Given the description of an element on the screen output the (x, y) to click on. 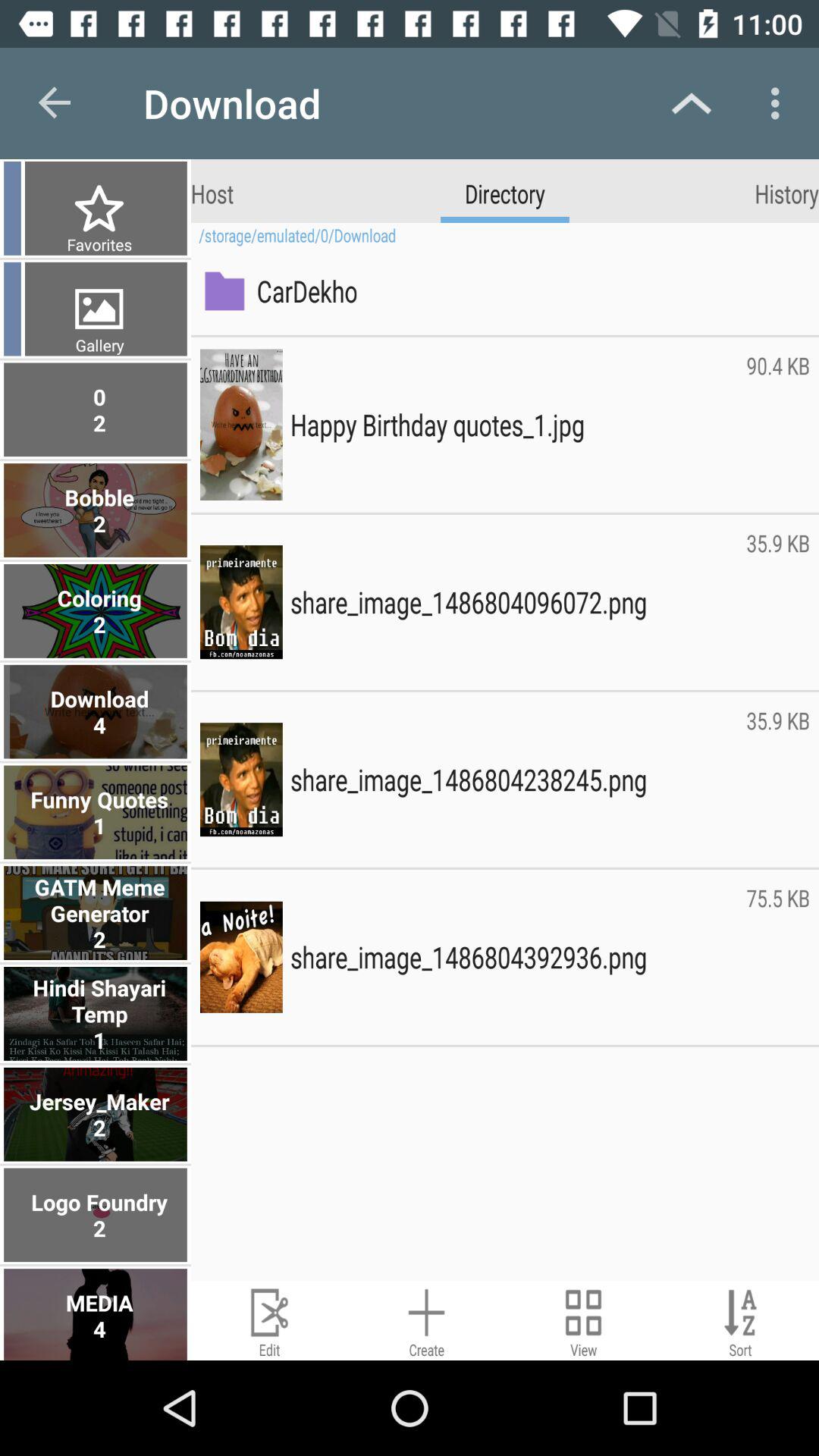
sort results (740, 1320)
